Given the description of an element on the screen output the (x, y) to click on. 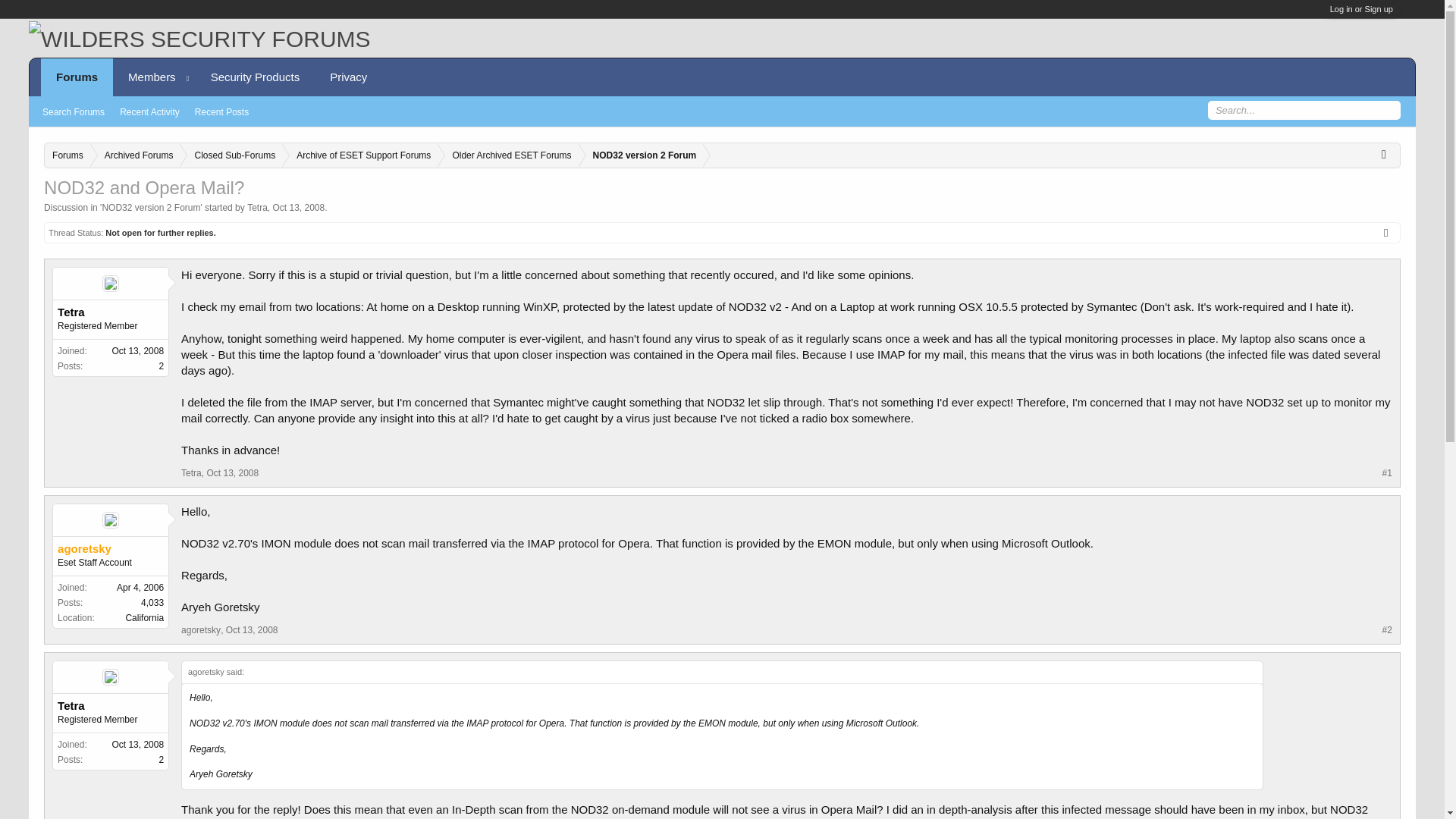
agoretsky (200, 629)
Tetra (110, 312)
Permalink (232, 472)
NOD32 version 2 Forum (641, 155)
Older Archived ESET Forums (508, 155)
California (144, 617)
Tetra (110, 705)
Oct 13, 2008 (251, 629)
Archived Forums (135, 155)
Archive of ESET Support Forums (360, 155)
Oct 13, 2008 at 1:43 AM (298, 207)
Permalink (251, 629)
agoretsky (110, 548)
Log in or Sign up (1361, 8)
Oct 13, 2008 (298, 207)
